Given the description of an element on the screen output the (x, y) to click on. 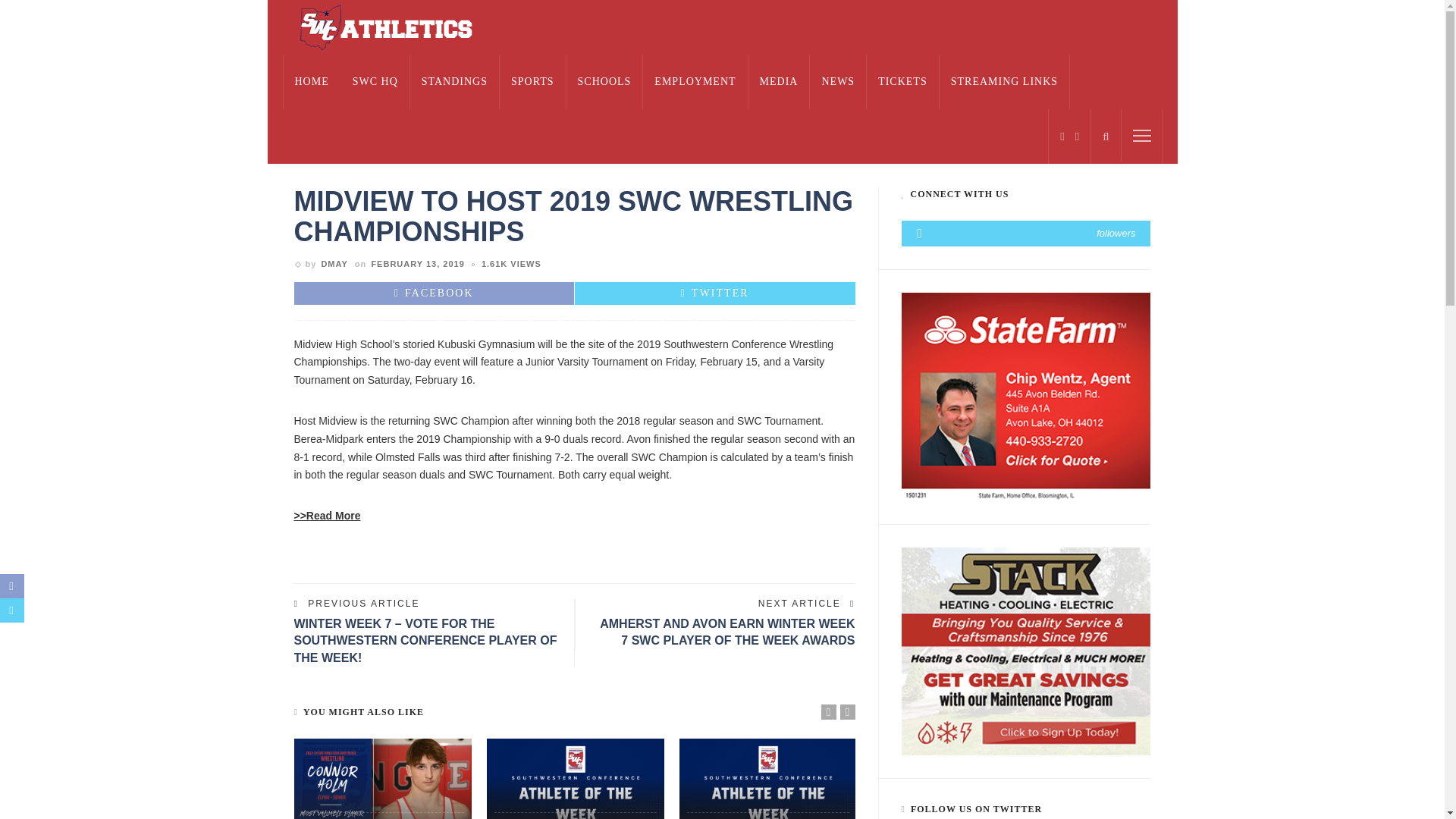
SWC Athletics (384, 26)
2023-24 All-SWC Wrestling Honors (382, 778)
Midview to host 2019 SWC Wrestling Championships (511, 263)
